Given the description of an element on the screen output the (x, y) to click on. 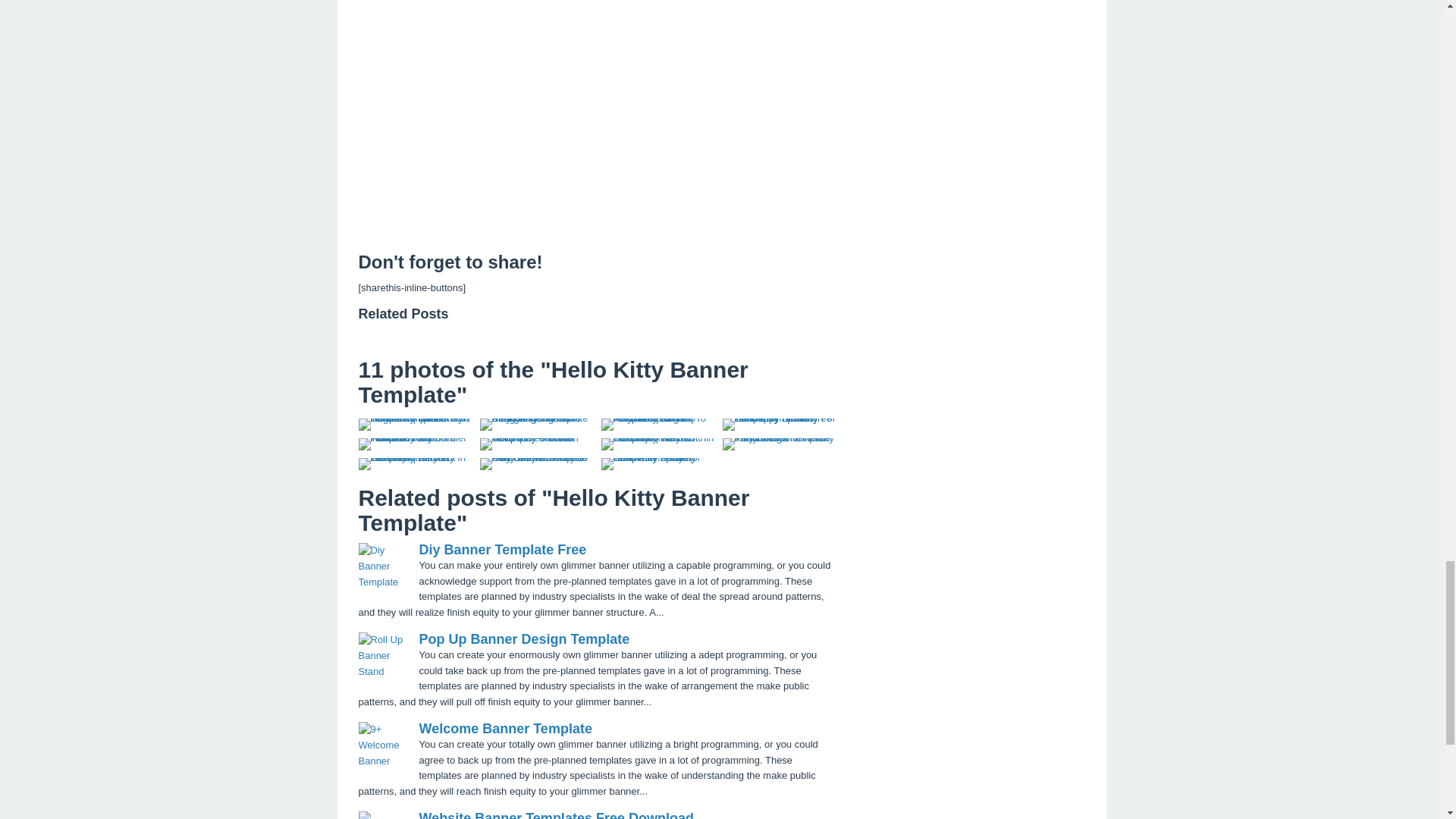
Website Banner Templates Free Download (556, 814)
Pop Up Banner Design Template (523, 639)
Welcome Banner Template (505, 728)
Diy Banner Template Free (502, 549)
